Given the description of an element on the screen output the (x, y) to click on. 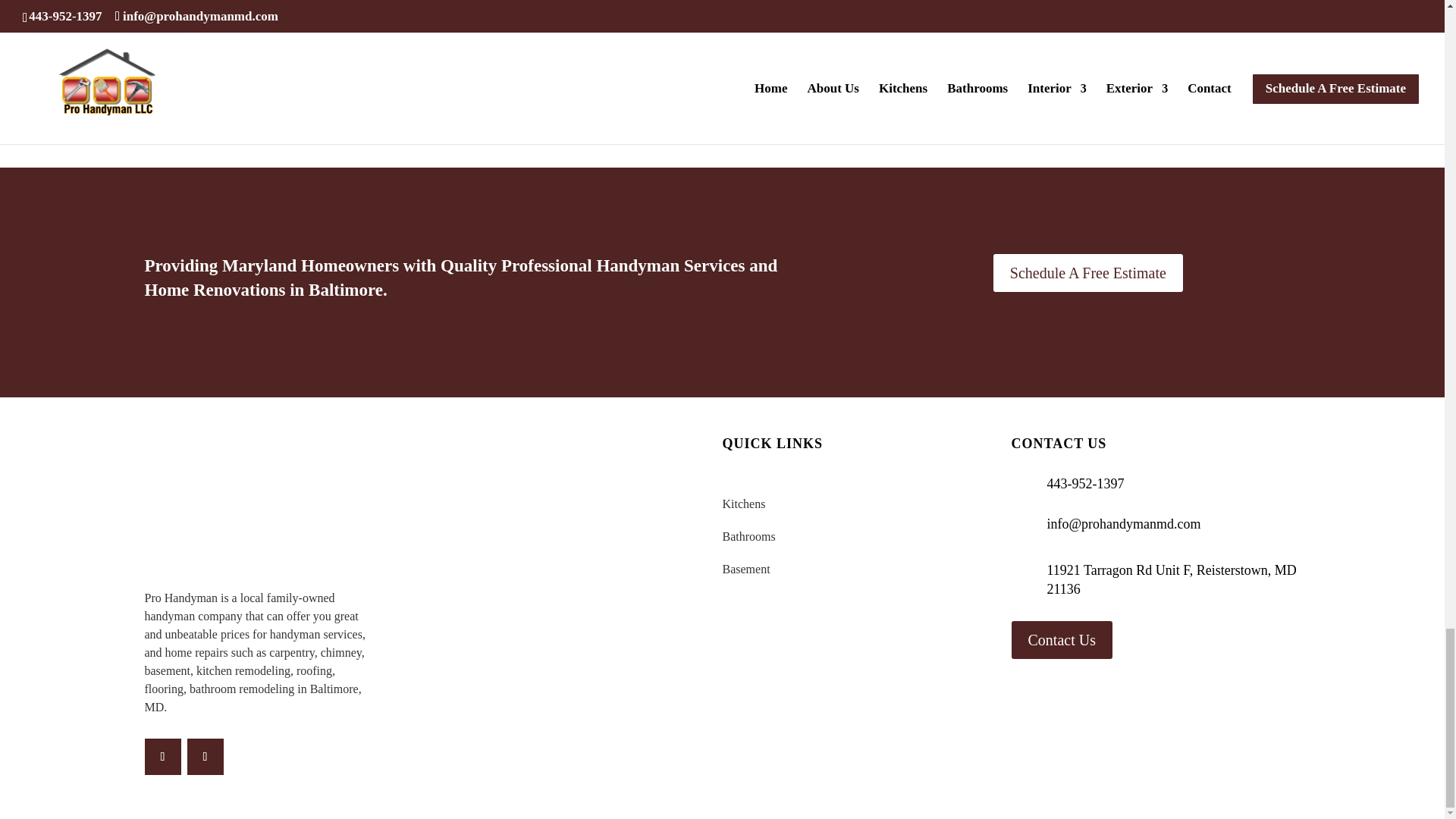
logo (259, 513)
Follow on Facebook (162, 756)
Follow on Instagram (204, 756)
